Given the description of an element on the screen output the (x, y) to click on. 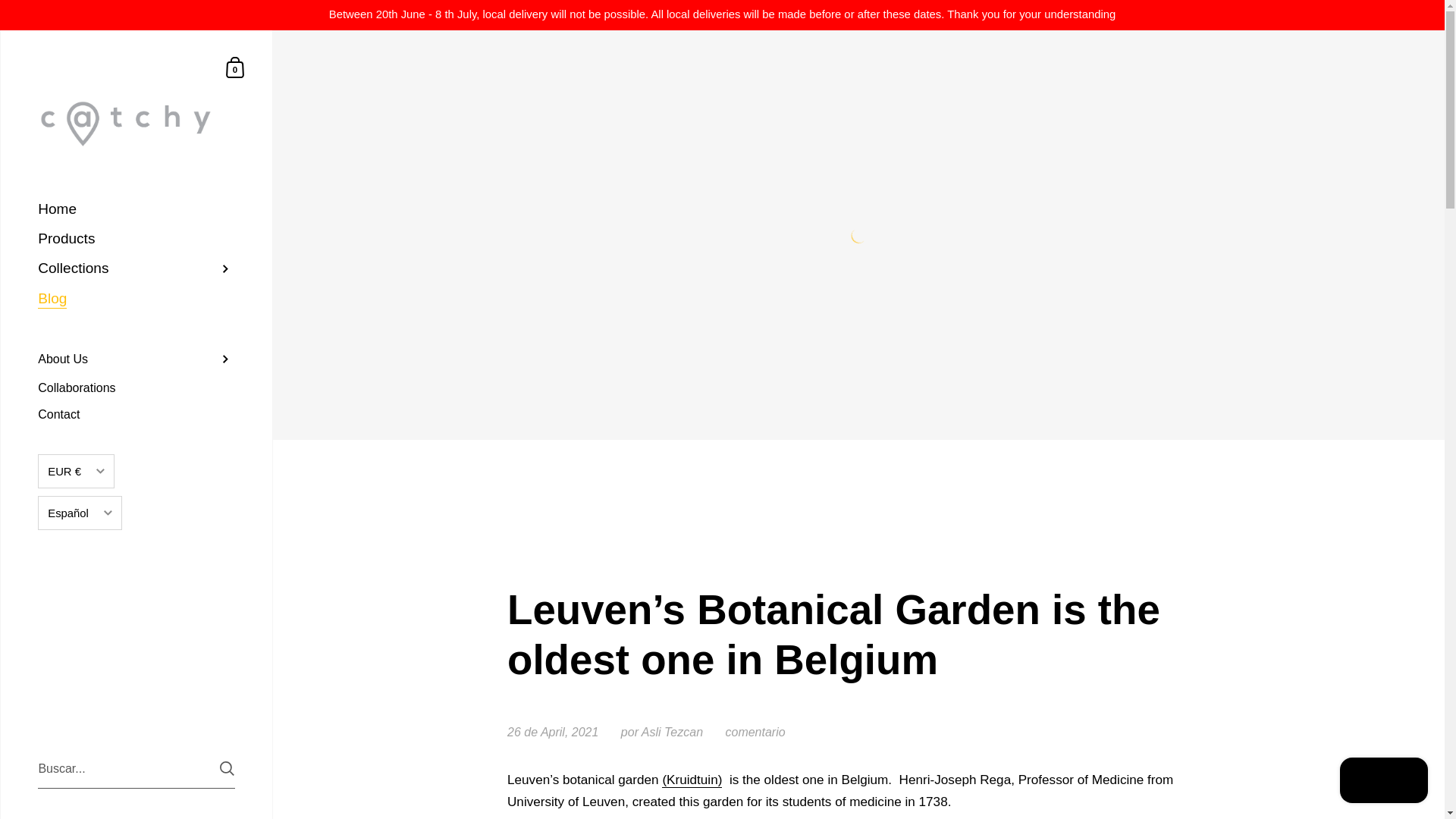
About Us (136, 358)
Collaborations (136, 387)
Blog (136, 298)
Leuven card (692, 779)
nl (79, 632)
0 (235, 66)
es (79, 573)
USD (76, 561)
fr (79, 603)
GBP (76, 531)
EUR (76, 501)
Collections (136, 268)
Chat de la tienda online Shopify (1383, 781)
comentario (754, 731)
Products (136, 238)
